Given the description of an element on the screen output the (x, y) to click on. 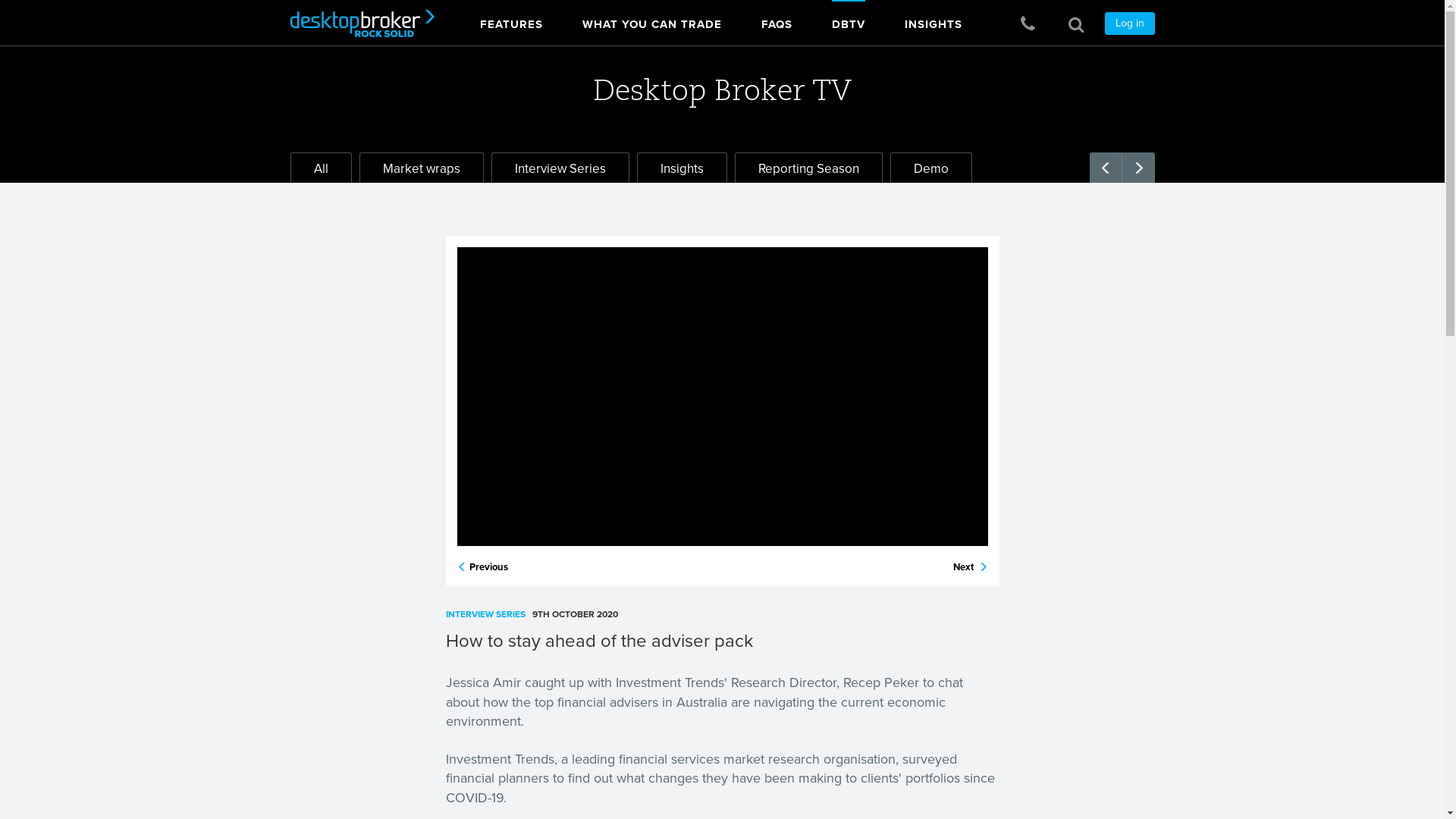
Search Element type: hover (1075, 24)
DBTV Element type: text (847, 20)
Log in Element type: text (1129, 23)
Contact Support Element type: hover (1027, 24)
FEATURES Element type: text (510, 20)
Demo Element type: text (931, 167)
All Element type: text (320, 167)
INSIGHTS Element type: text (932, 20)
Previous Element type: hover (1104, 167)
Reporting Season Element type: text (807, 167)
Previous Element type: text (481, 567)
Next Element type: hover (1138, 167)
Market wraps Element type: text (421, 167)
WHAT YOU CAN TRADE Element type: text (651, 20)
Insights Element type: text (682, 167)
Next Element type: text (969, 567)
Return Home Element type: hover (356, 22)
FAQS Element type: text (776, 20)
Interview Series Element type: text (560, 167)
